Given the description of an element on the screen output the (x, y) to click on. 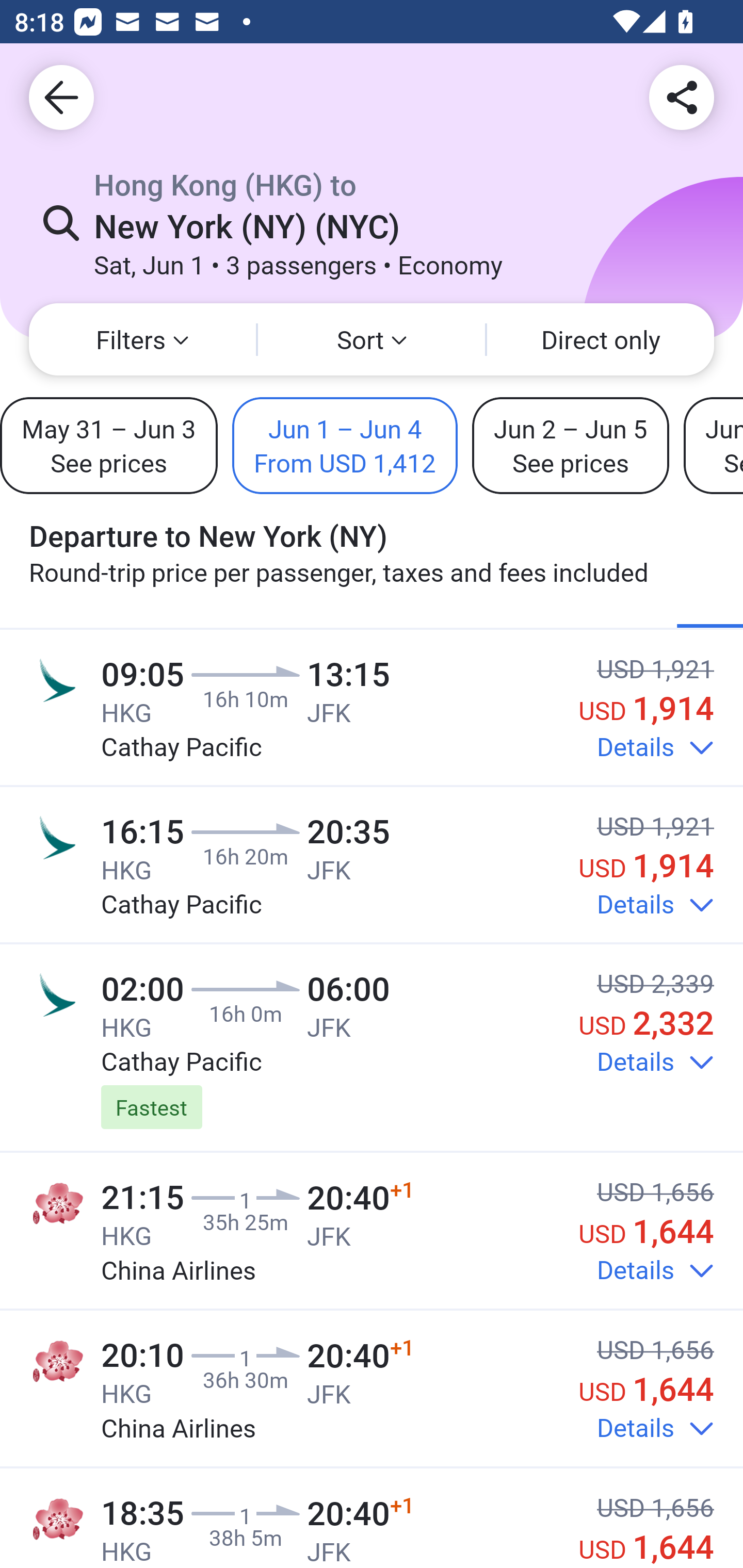
Filters (141, 339)
Sort (371, 339)
Direct only (600, 339)
May 31 – Jun 3 See prices (108, 444)
Jun 1 – Jun 4 From USD 1,412 (344, 444)
Jun 2 – Jun 5 See prices (570, 444)
